Given the description of an element on the screen output the (x, y) to click on. 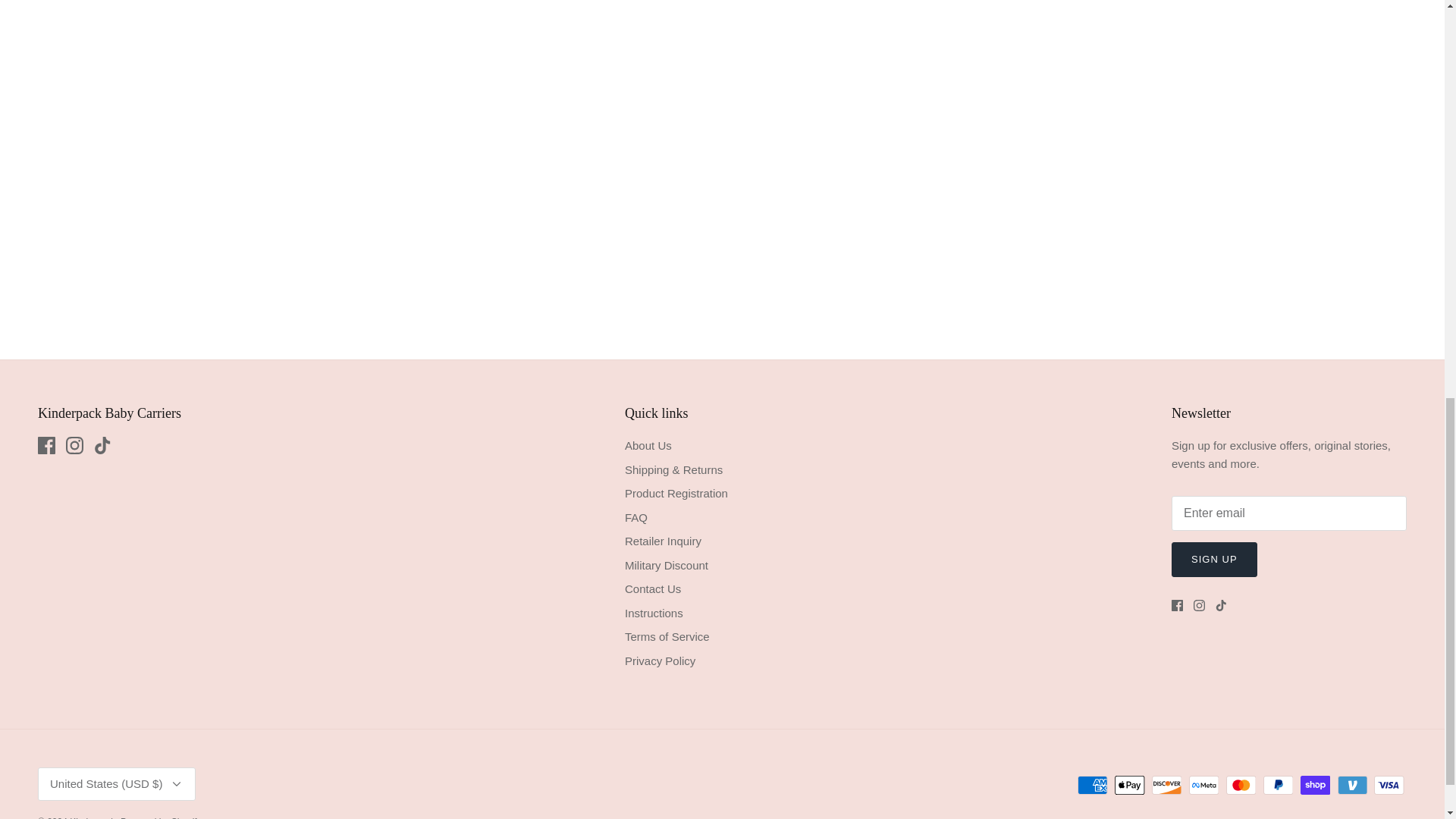
Facebook (46, 445)
Instagram (1199, 604)
Mastercard (1240, 784)
Visa (1388, 784)
PayPal (1277, 784)
Venmo (1352, 784)
Discover (1166, 784)
Shop Pay (1315, 784)
American Express (1092, 784)
Meta Pay (1203, 784)
